Given the description of an element on the screen output the (x, y) to click on. 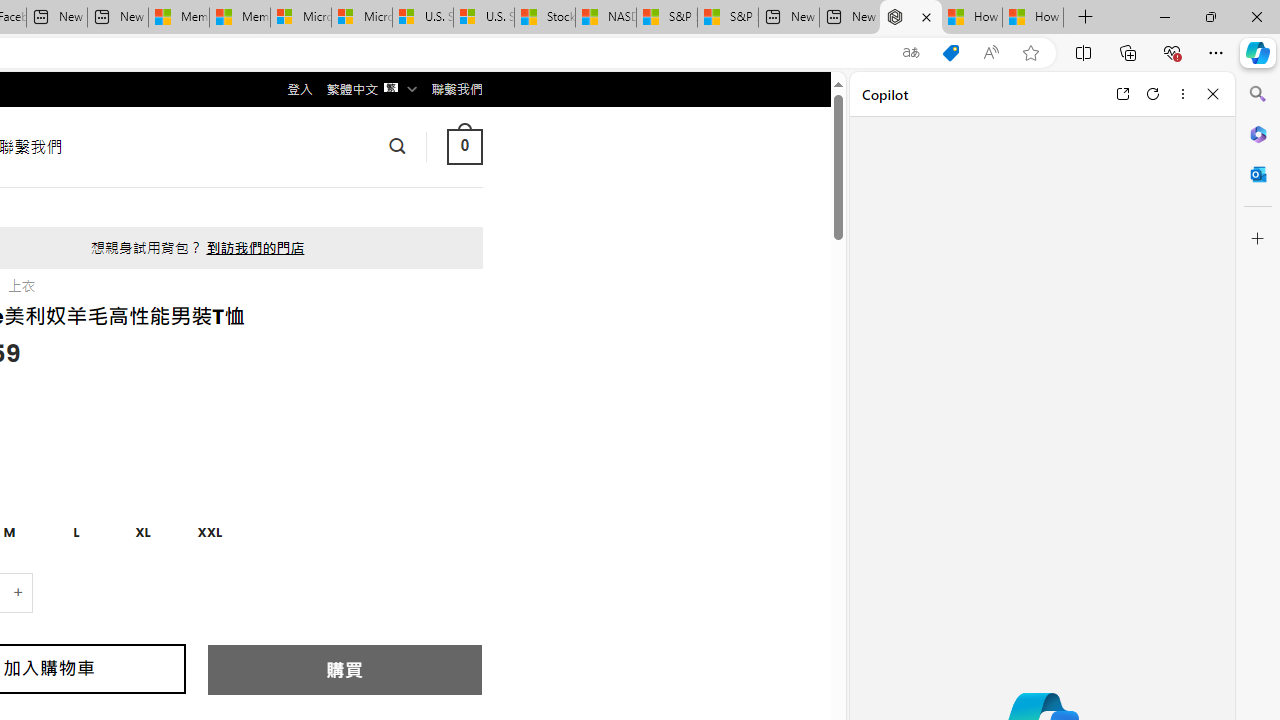
  0   (464, 146)
Search (1258, 94)
S&P 500, Nasdaq end lower, weighed by Nvidia dip | Watch (727, 17)
Customize (1258, 239)
 0  (464, 146)
